Given the description of an element on the screen output the (x, y) to click on. 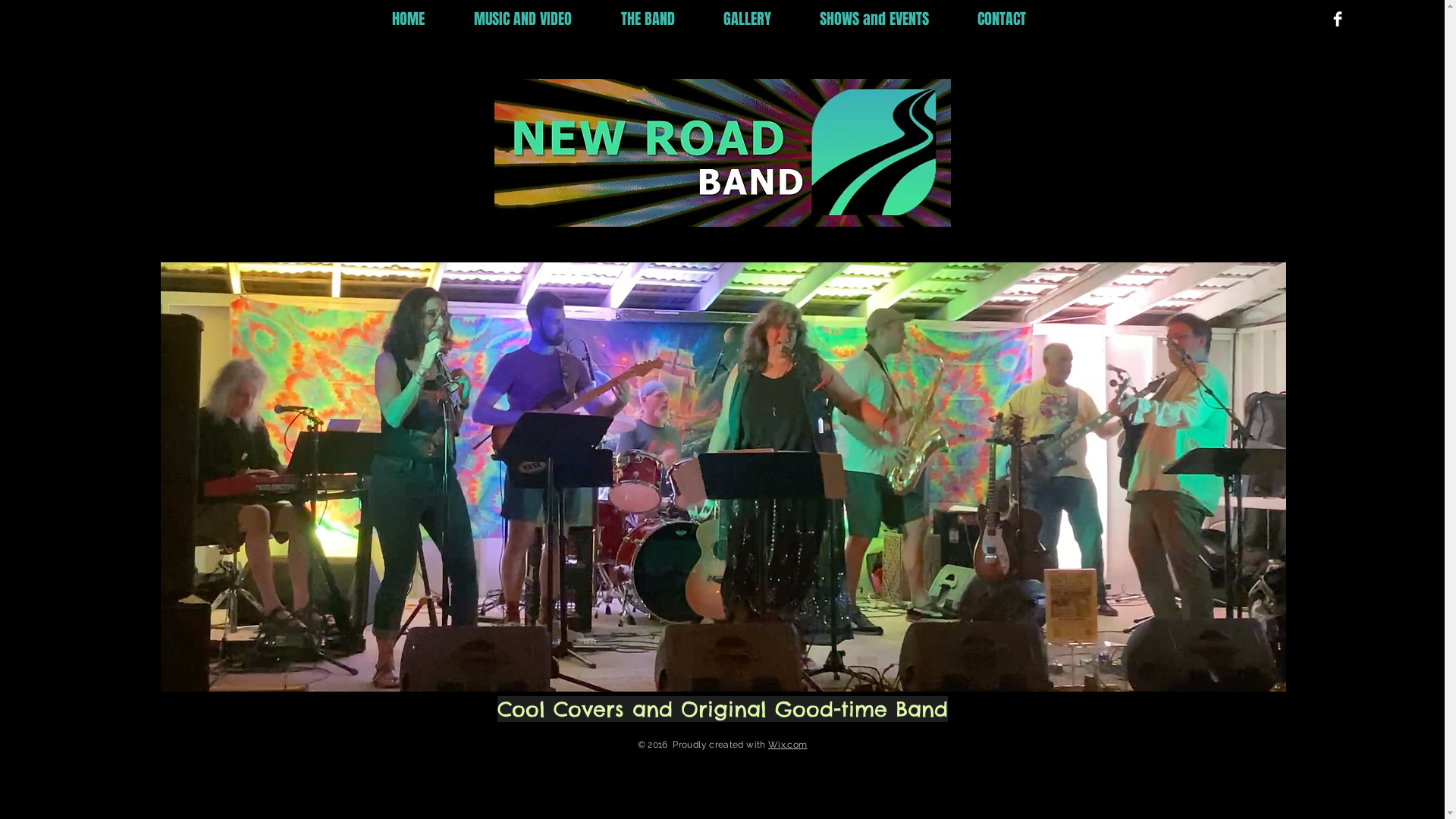
20221012_214245.jpg Element type: hover (723, 476)
GALLERY Element type: text (759, 19)
Wix.com Element type: text (787, 744)
HOME Element type: text (421, 19)
NRB logo 5.2023.jpg Element type: hover (722, 152)
THE BAND Element type: text (660, 19)
CONTACT Element type: text (1014, 19)
SHOWS and EVENTS Element type: text (887, 19)
